Given the description of an element on the screen output the (x, y) to click on. 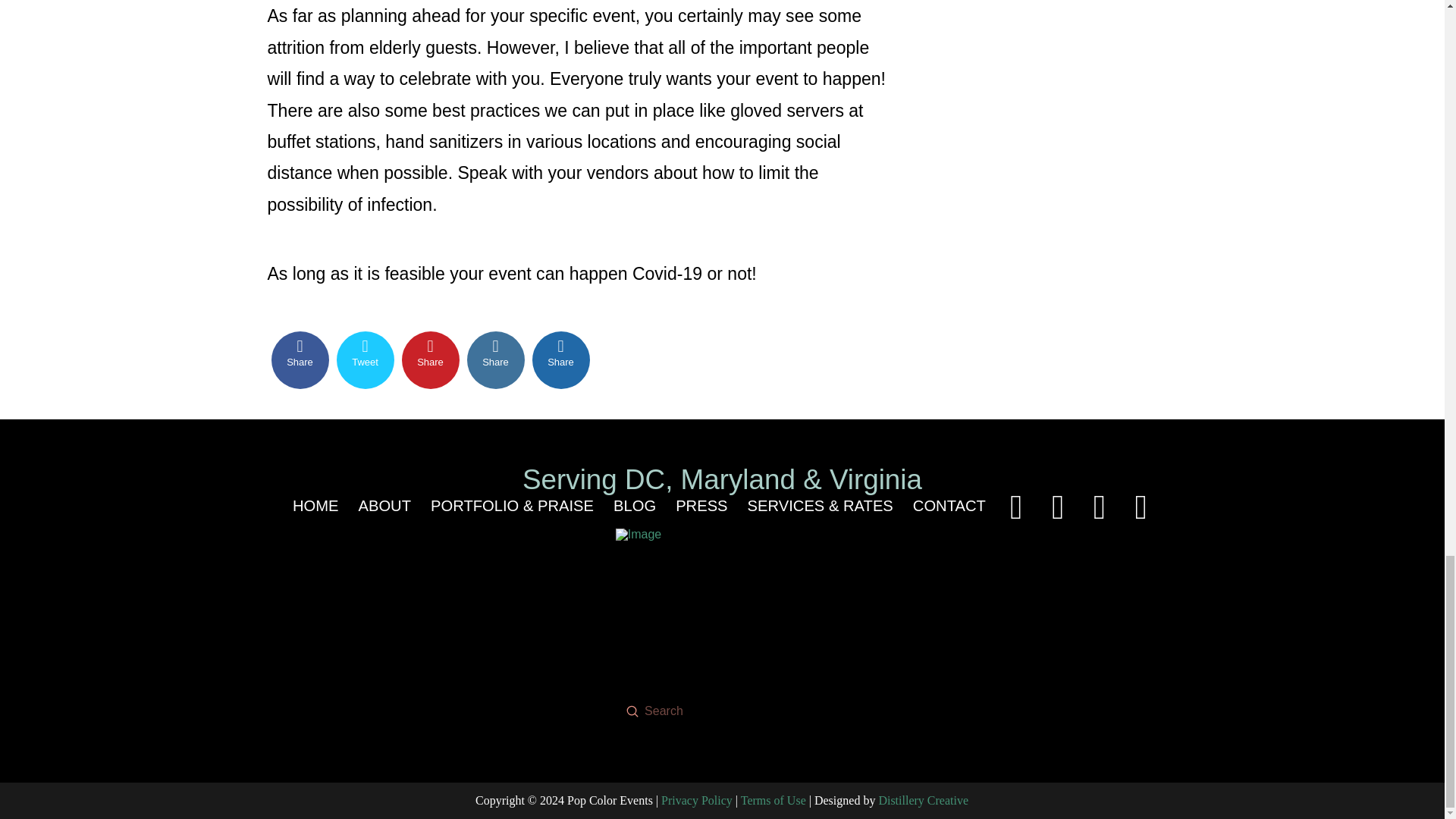
HOME (315, 507)
Share on Facebook (299, 360)
ABOUT (383, 507)
Share on LinkedIn (495, 360)
Submit (632, 711)
Share (299, 360)
CONTACT (948, 507)
Distillery Creative (922, 799)
Share (430, 360)
BLOG (634, 507)
